Given the description of an element on the screen output the (x, y) to click on. 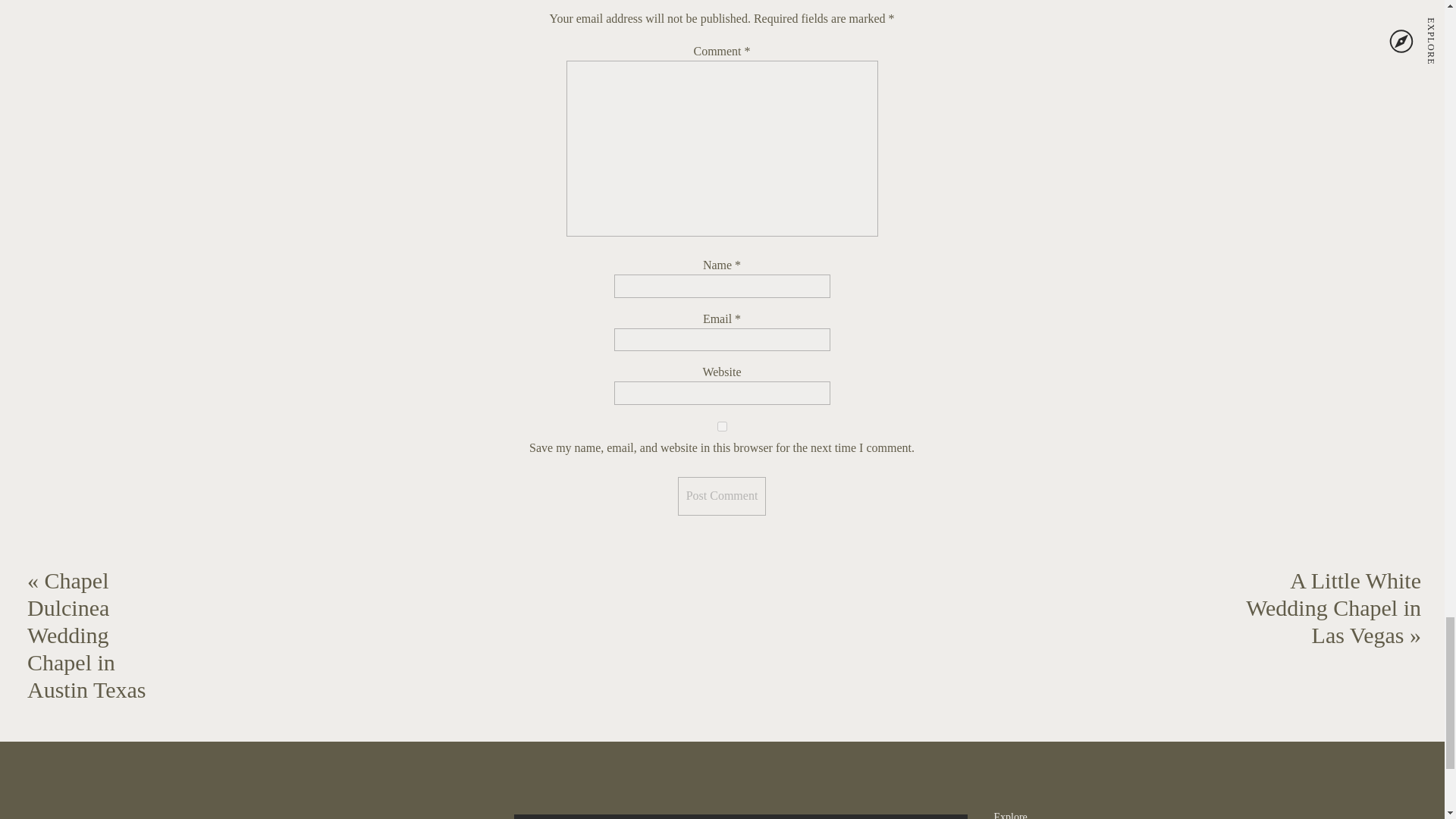
A Little White Wedding Chapel in Las Vegas (1333, 607)
Post Comment (722, 495)
Post Comment (722, 495)
yes (721, 426)
